Given the description of an element on the screen output the (x, y) to click on. 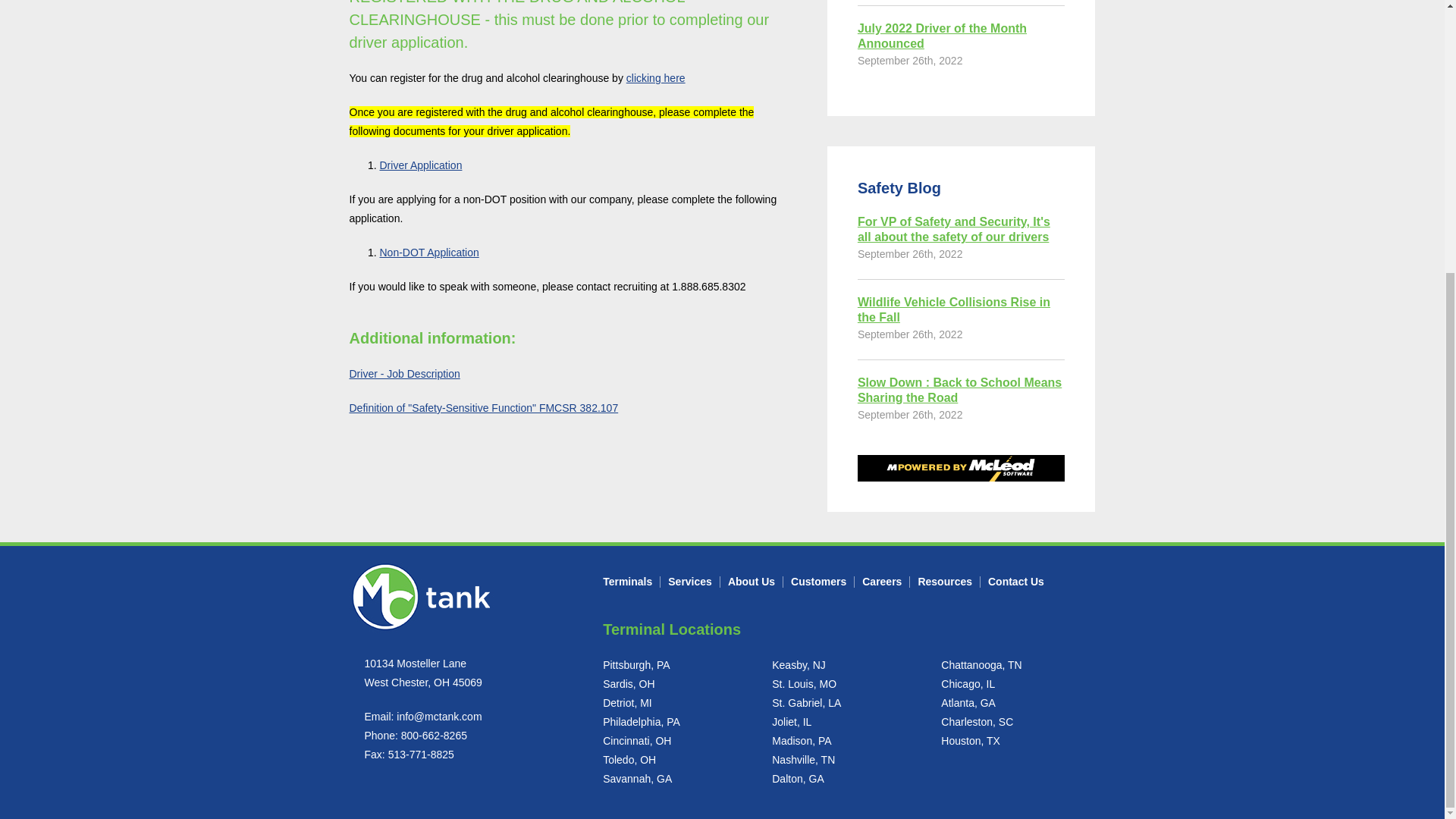
Non-DOT Application (428, 252)
Driver - Job Description (404, 373)
July 2022 Driver of the Month Announced (961, 36)
Wildlife Vehicle Collisions Rise in the Fall (961, 309)
Definition of "Safety-Sensitive Function" FMCSR 382.107 (483, 408)
Slow Down : Back to School Means Sharing the Road (961, 390)
Driver Application (419, 164)
clicking here (655, 78)
